Given the description of an element on the screen output the (x, y) to click on. 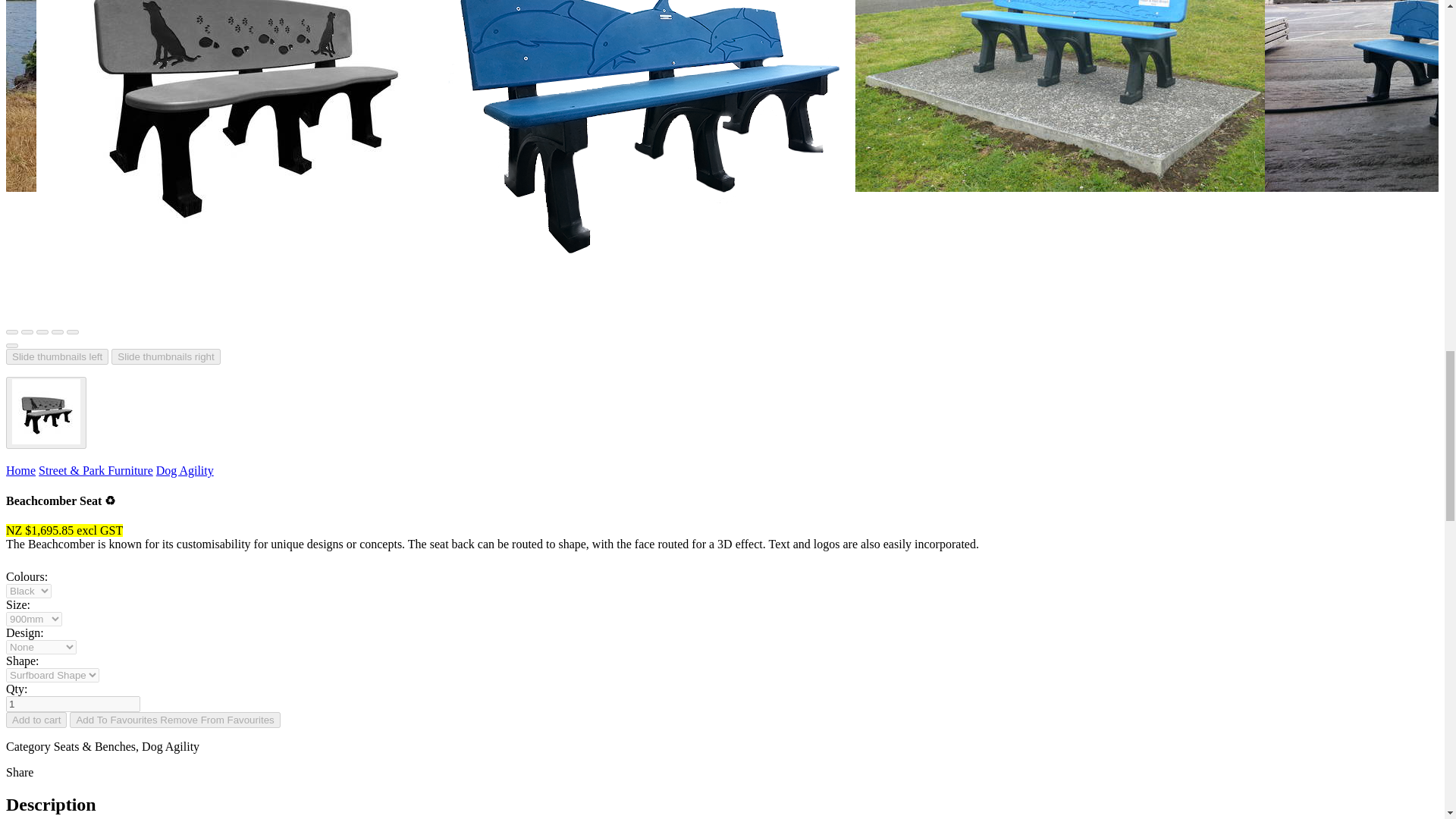
1 (72, 703)
Add To Favourites (174, 719)
